Given the description of an element on the screen output the (x, y) to click on. 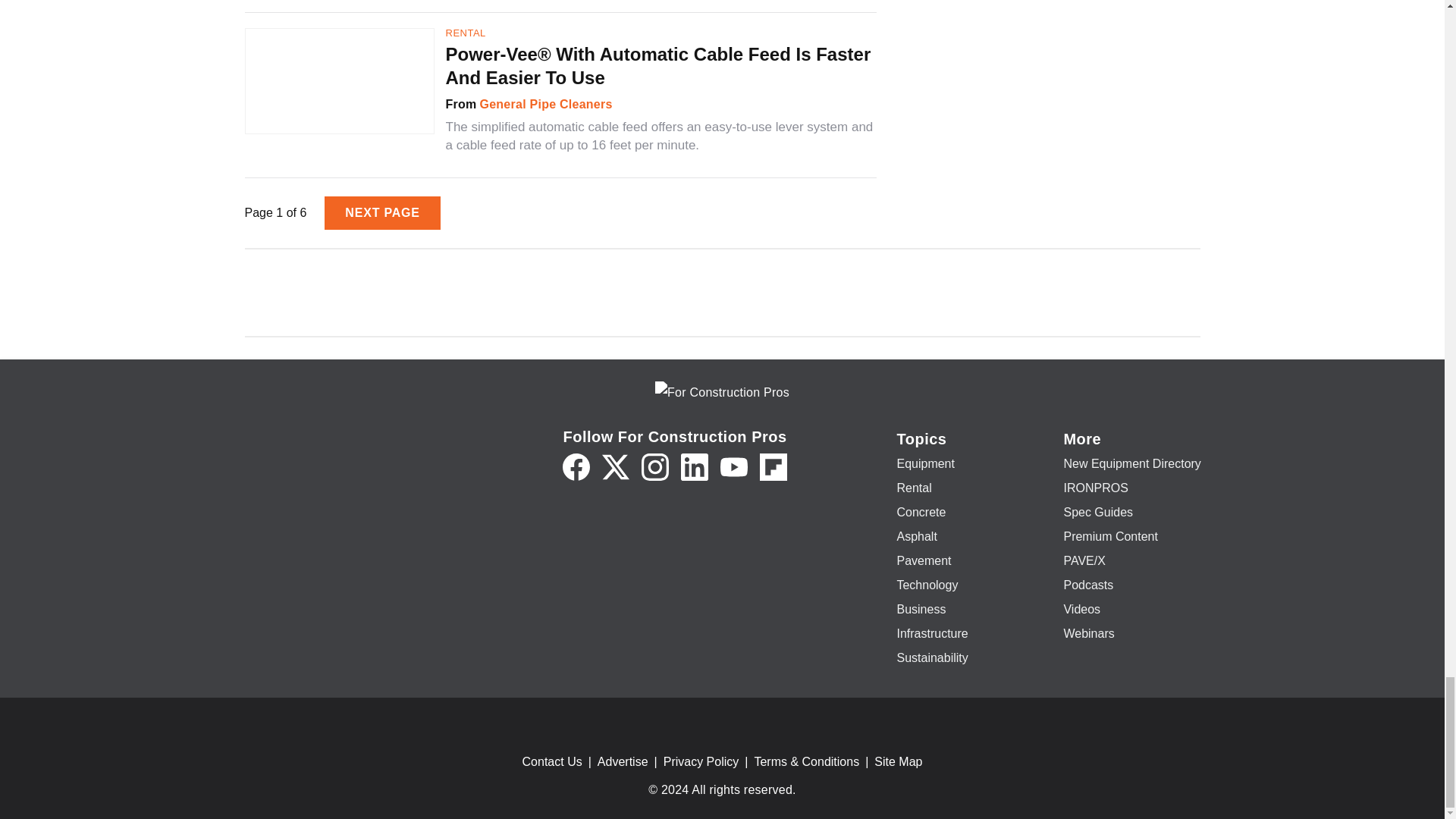
YouTube icon (734, 466)
Facebook icon (575, 466)
LinkedIn icon (694, 466)
Flipboard icon (773, 466)
Instagram icon (655, 466)
Twitter X icon (615, 466)
